Given the description of an element on the screen output the (x, y) to click on. 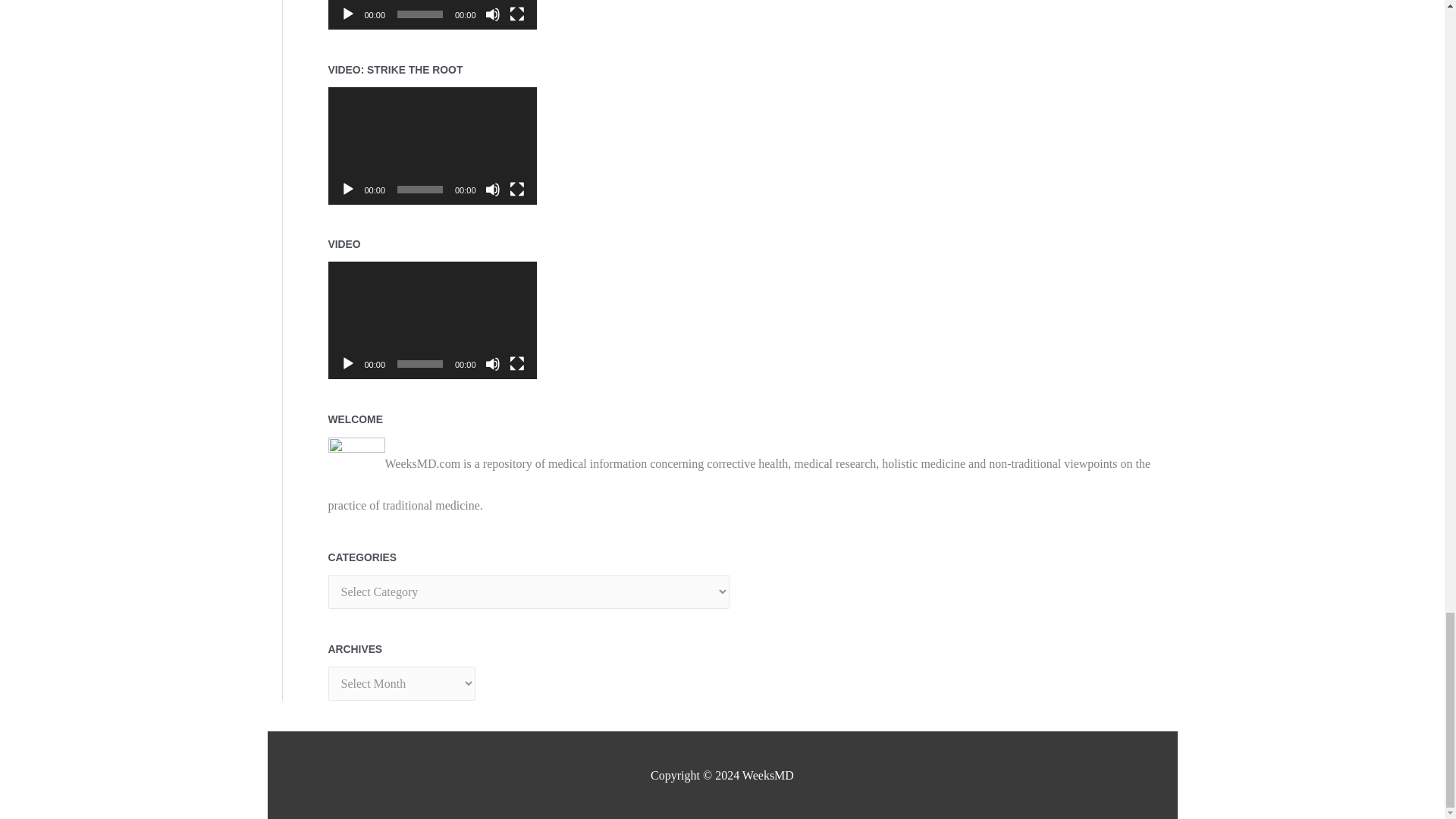
Mute (492, 363)
Fullscreen (516, 14)
Fullscreen (516, 363)
Mute (492, 14)
Fullscreen (516, 189)
Play (347, 363)
Mute (492, 189)
Play (347, 189)
Play (347, 14)
